Given the description of an element on the screen output the (x, y) to click on. 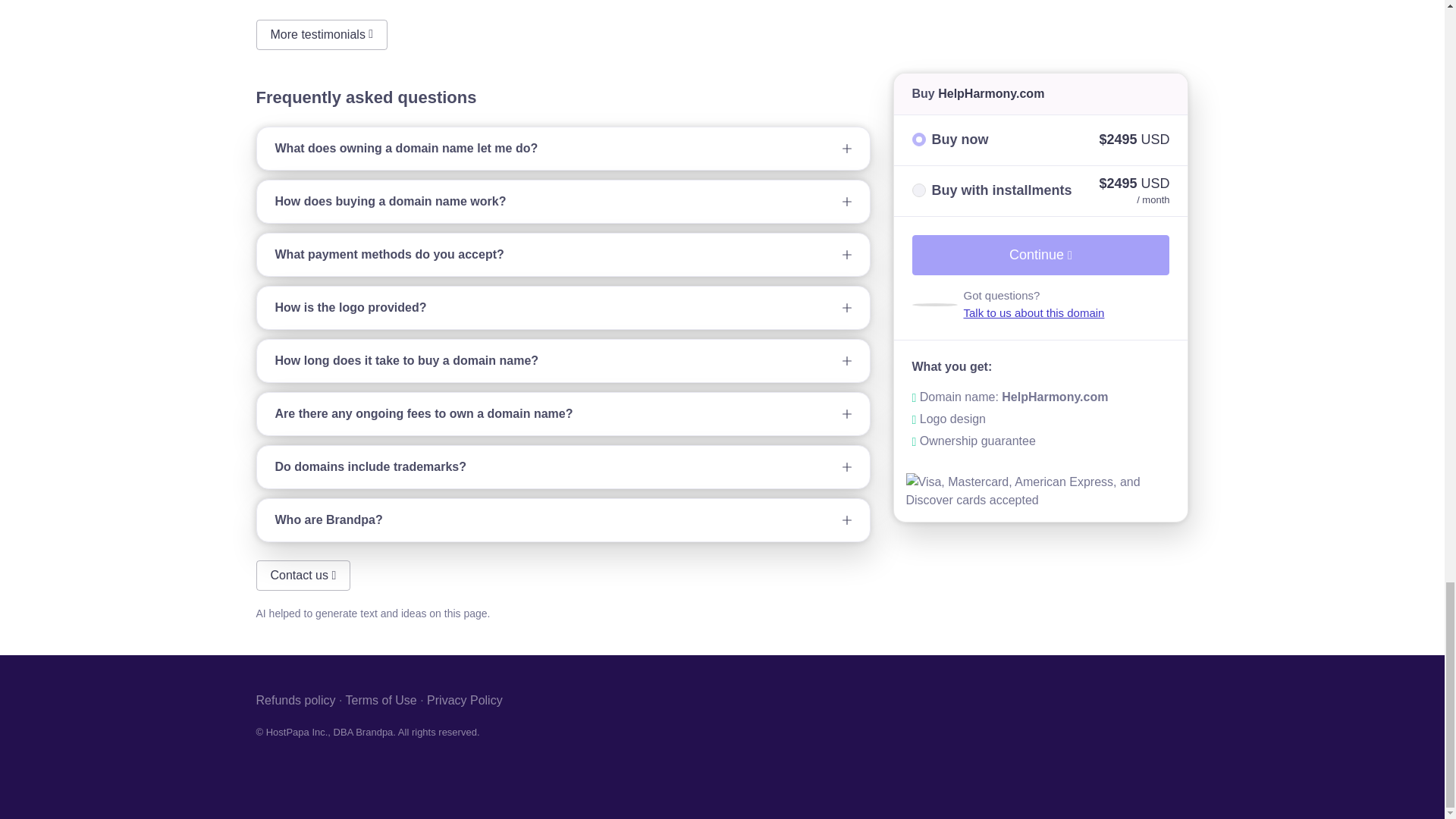
How is the logo provided? (562, 307)
Contact us (303, 575)
Are there any ongoing fees to own a domain name? (562, 413)
Do domains include trademarks? (562, 466)
Terms of Use (381, 699)
How does buying a domain name work? (562, 201)
Privacy Policy (464, 699)
Refunds policy (296, 699)
How long does it take to buy a domain name? (562, 360)
Who are Brandpa? (562, 519)
What payment methods do you accept? (562, 254)
What does owning a domain name let me do? (562, 148)
More testimonials (322, 34)
